Given the description of an element on the screen output the (x, y) to click on. 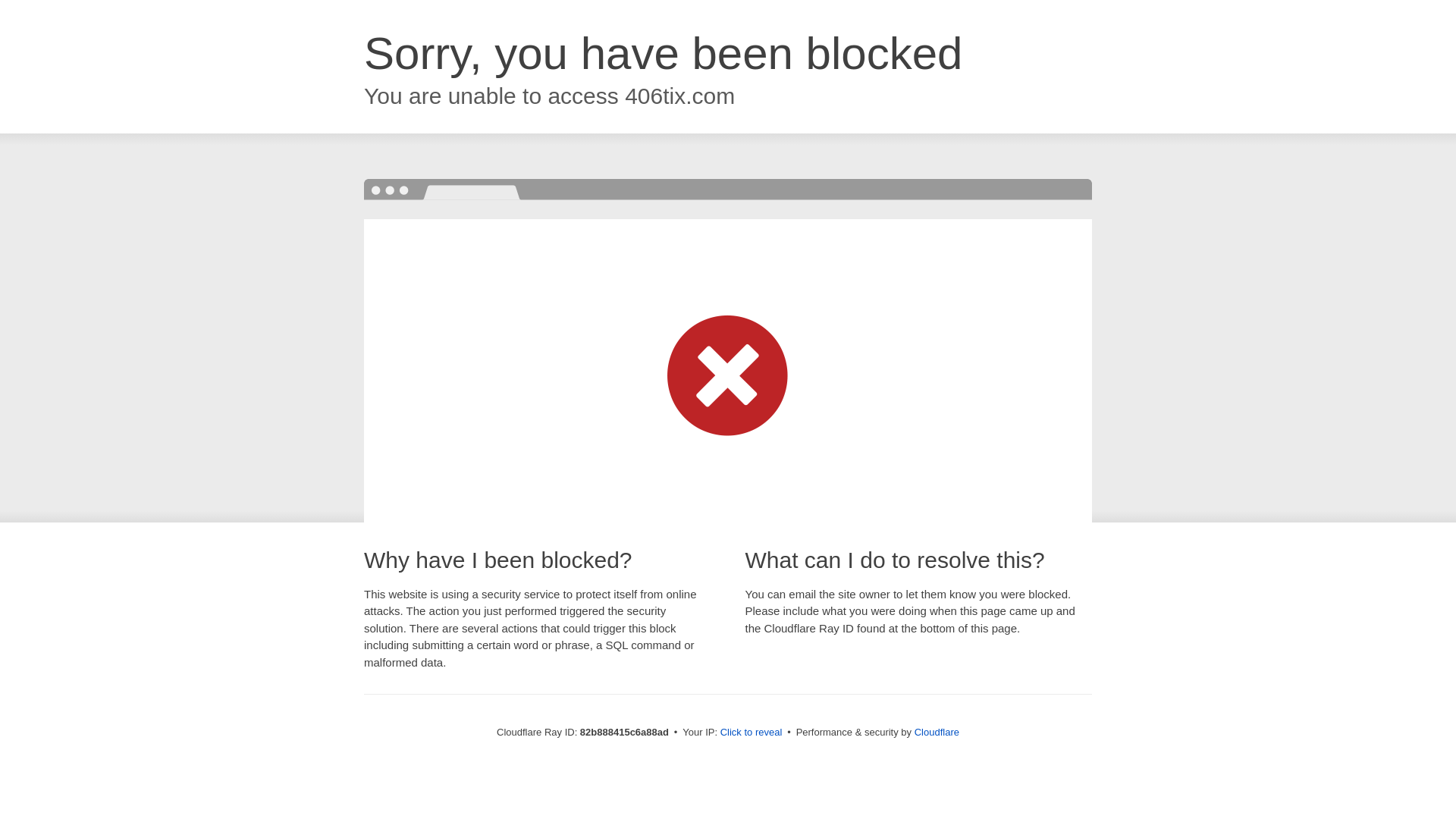
Cloudflare Element type: text (936, 731)
Click to reveal Element type: text (751, 732)
